Given the description of an element on the screen output the (x, y) to click on. 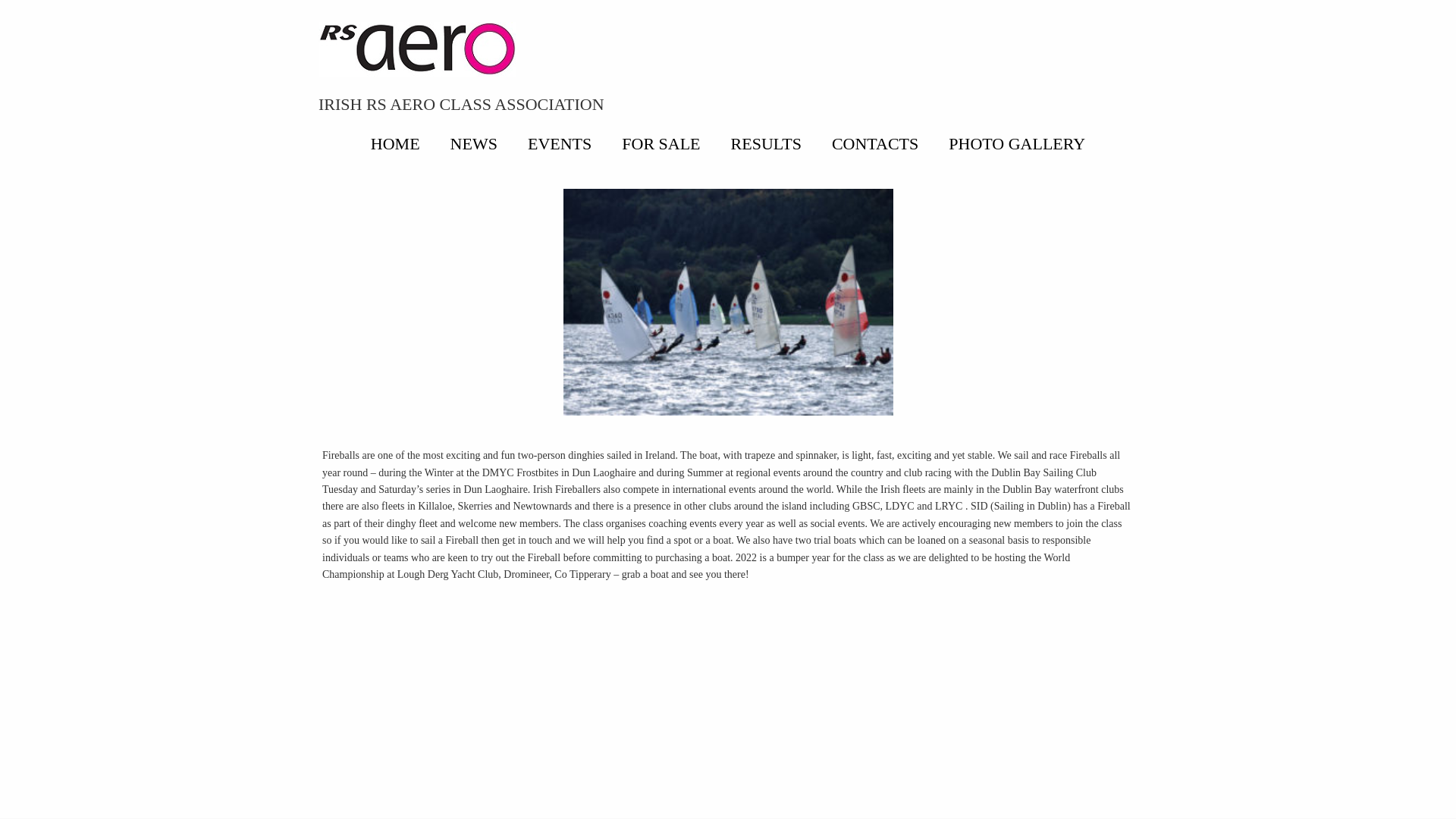
HOME (395, 143)
EVENTS (559, 143)
NEWS (473, 143)
FOR SALE (660, 143)
IRISH RS AERO CLASS ASSOCIATION (461, 104)
CONTACTS (874, 143)
RESULTS (766, 143)
PHOTO GALLERY (1016, 143)
